Given the description of an element on the screen output the (x, y) to click on. 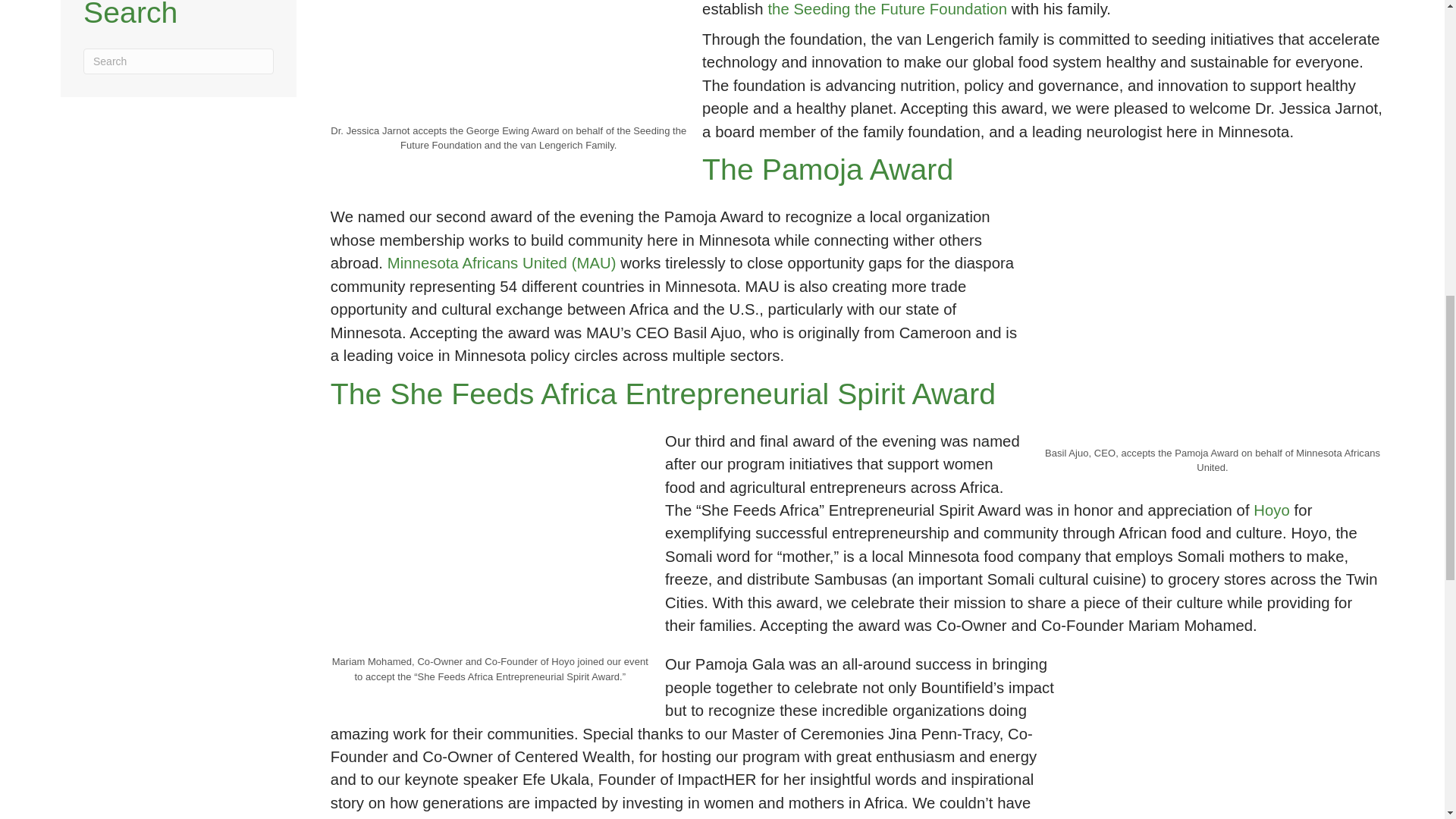
Hoyo (1271, 510)
the Seeding the Future Foundation (887, 8)
Type and press Enter to search. (177, 61)
